Given the description of an element on the screen output the (x, y) to click on. 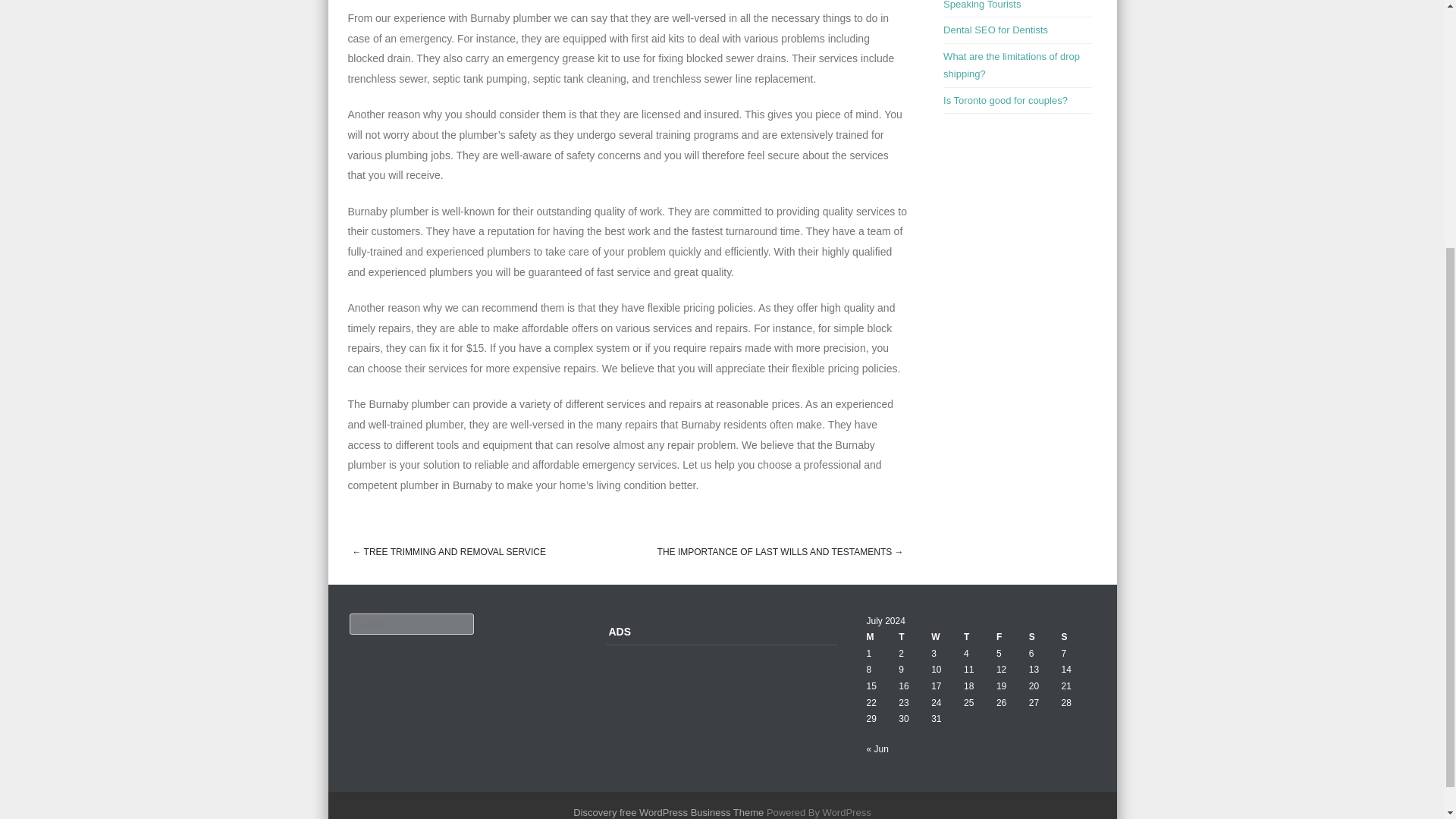
Sunday (1077, 637)
Friday (1012, 637)
22 (871, 702)
Saturday (1045, 637)
Tuesday (914, 637)
Monday (882, 637)
28 (1066, 702)
Dental SEO for Dentists (995, 30)
24 (935, 702)
Is Toronto good for couples? (1005, 100)
Discovery free WordPress Business Theme (667, 812)
Thursday (979, 637)
27 (1034, 702)
Wednesday (947, 637)
